Given the description of an element on the screen output the (x, y) to click on. 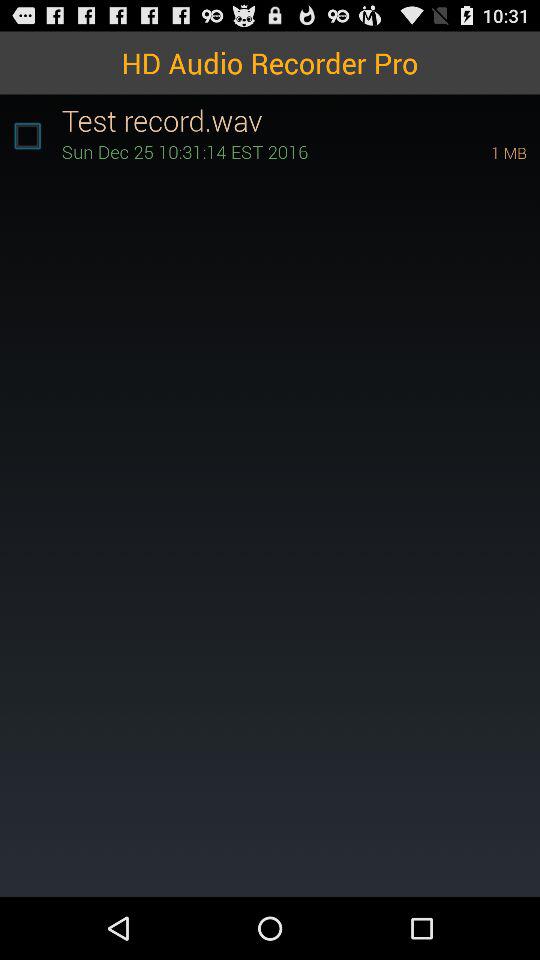
scroll to sun dec 25 item (248, 151)
